Given the description of an element on the screen output the (x, y) to click on. 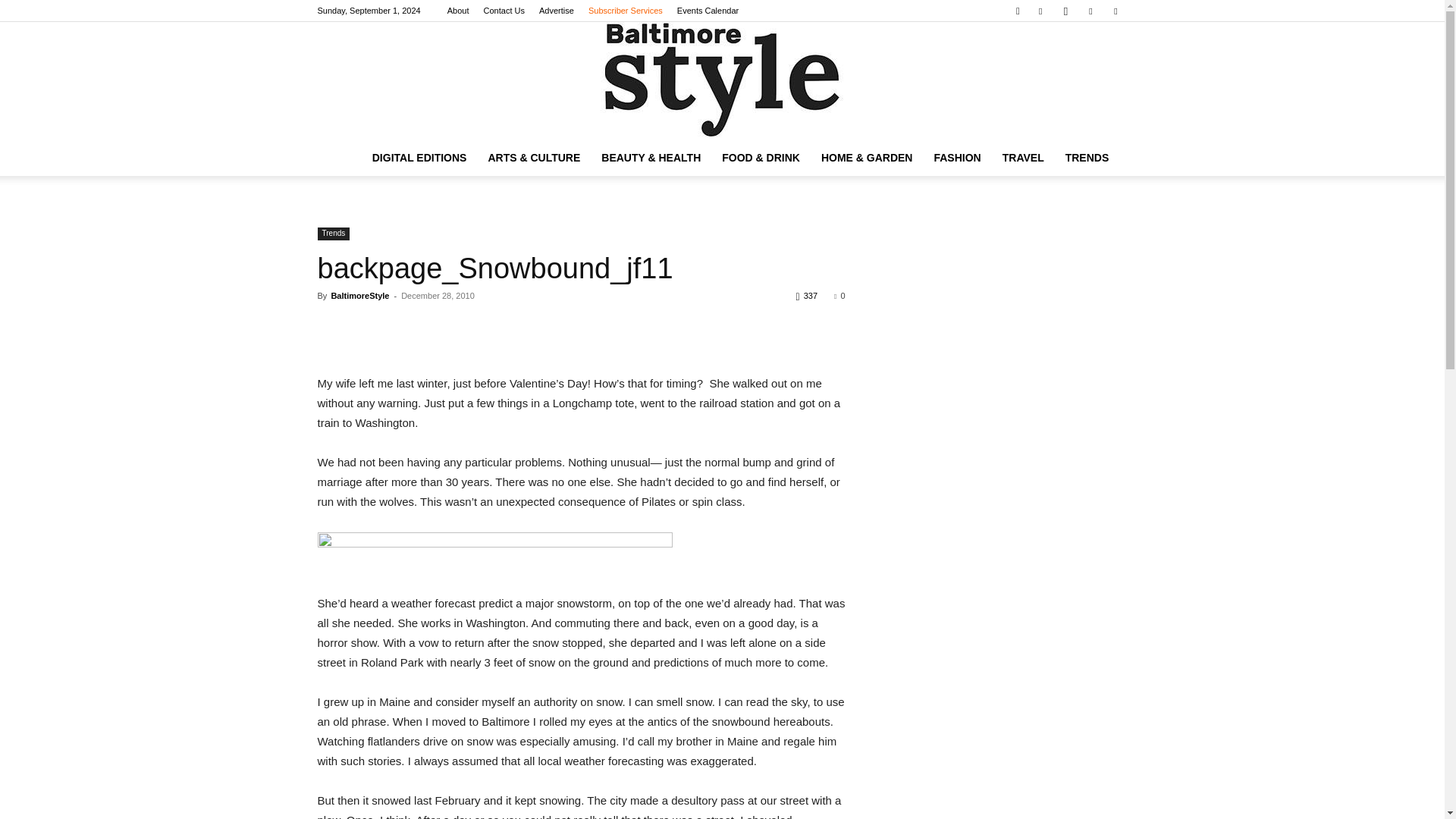
About (457, 10)
Twitter (1114, 10)
Trends (333, 233)
Advertise (555, 10)
Pinterest (1090, 10)
Search (1085, 64)
Subscriber Services (625, 10)
Events Calendar (707, 10)
Instagram (1065, 10)
FASHION (957, 157)
